Given the description of an element on the screen output the (x, y) to click on. 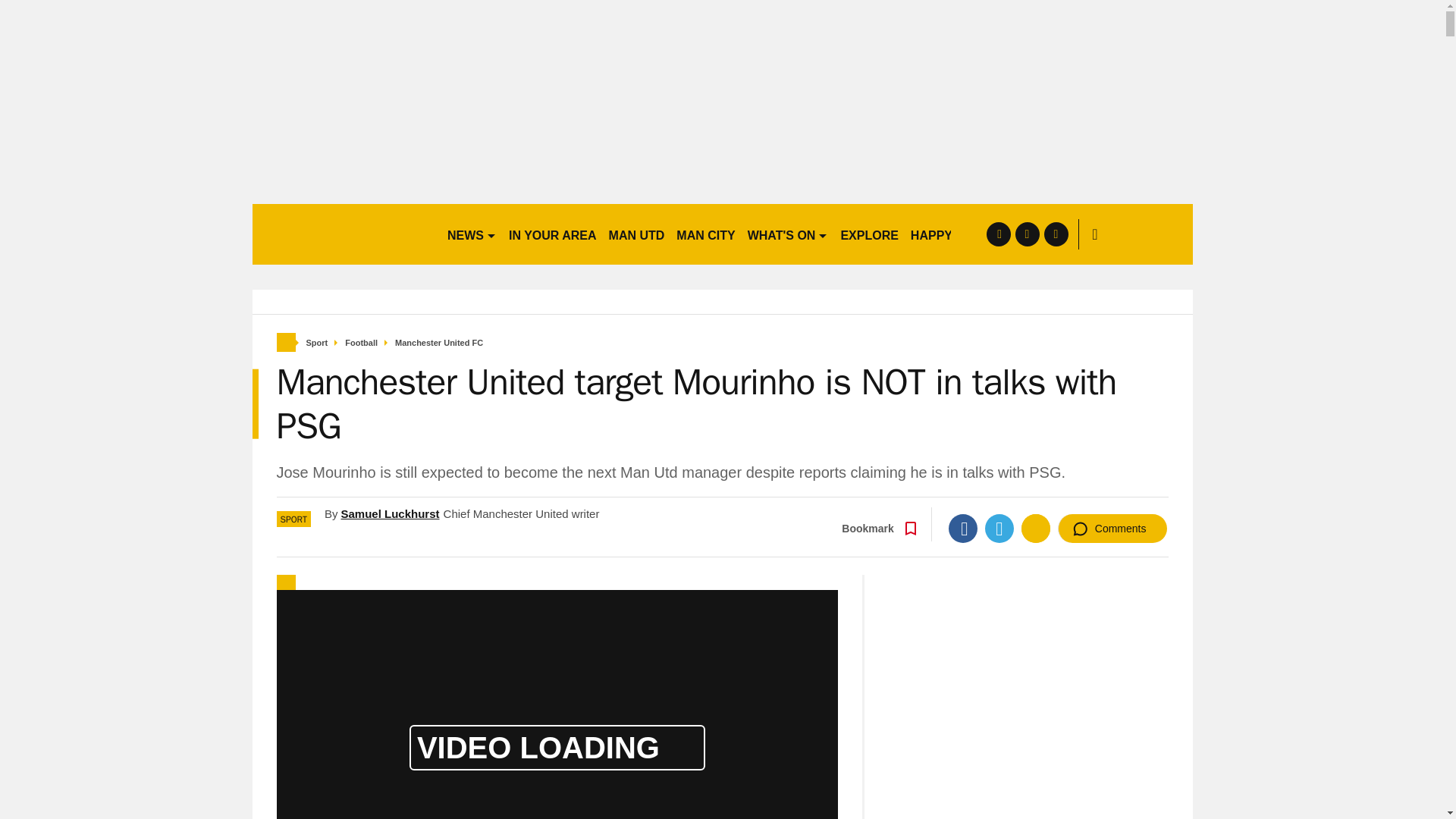
NEWS (471, 233)
MAN CITY (705, 233)
Twitter (999, 528)
IN YOUR AREA (552, 233)
twitter (1026, 233)
instagram (1055, 233)
facebook (997, 233)
men (342, 233)
WHAT'S ON (787, 233)
Facebook (962, 528)
Comments (1112, 528)
MAN UTD (636, 233)
